Given the description of an element on the screen output the (x, y) to click on. 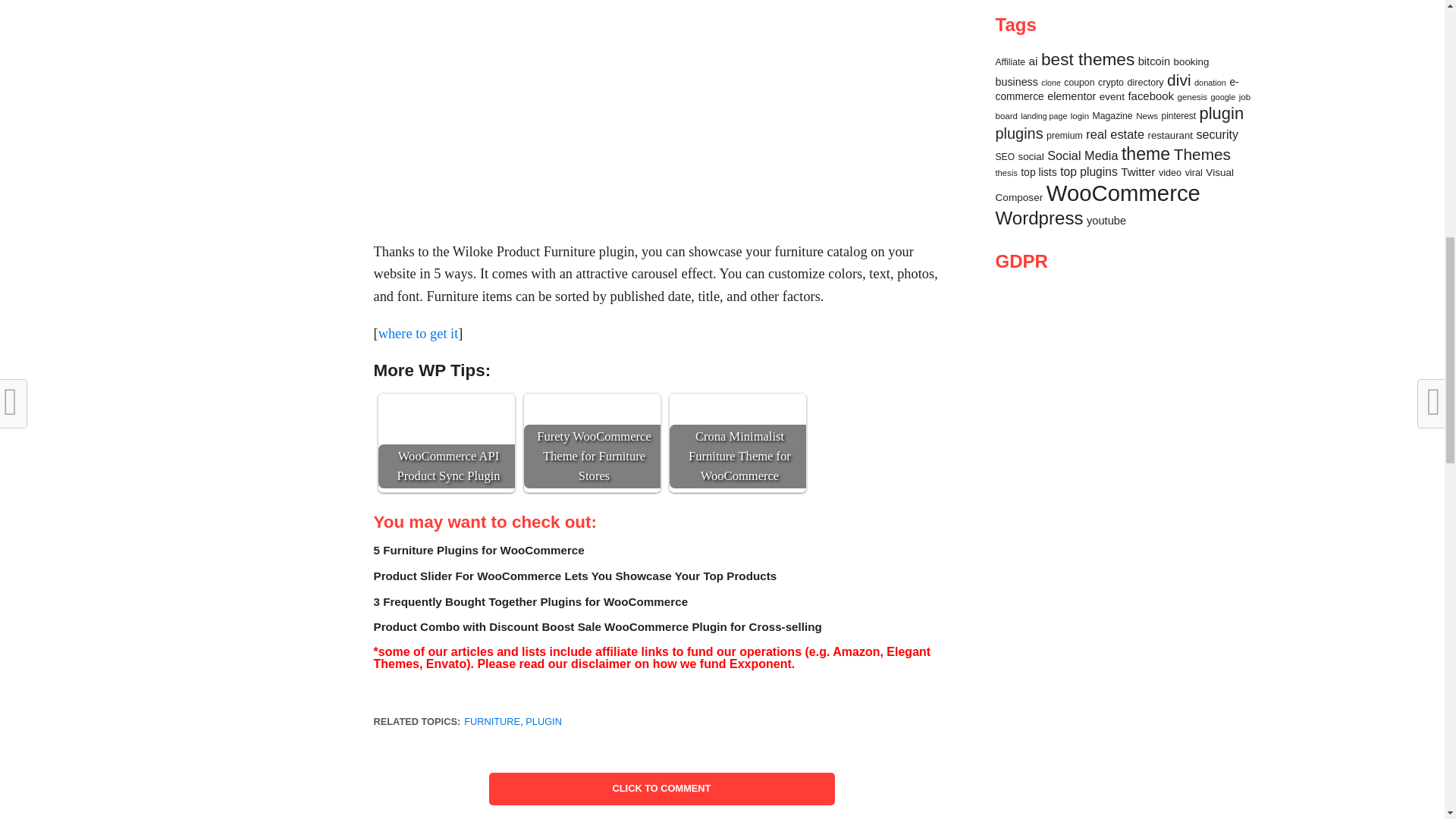
Crona Minimalist Furniture Theme for WooCommerce (738, 415)
Furety WooCommerce Theme for Furniture Stores (592, 415)
WooCommerce API Product Sync Plugin (446, 415)
